Given the description of an element on the screen output the (x, y) to click on. 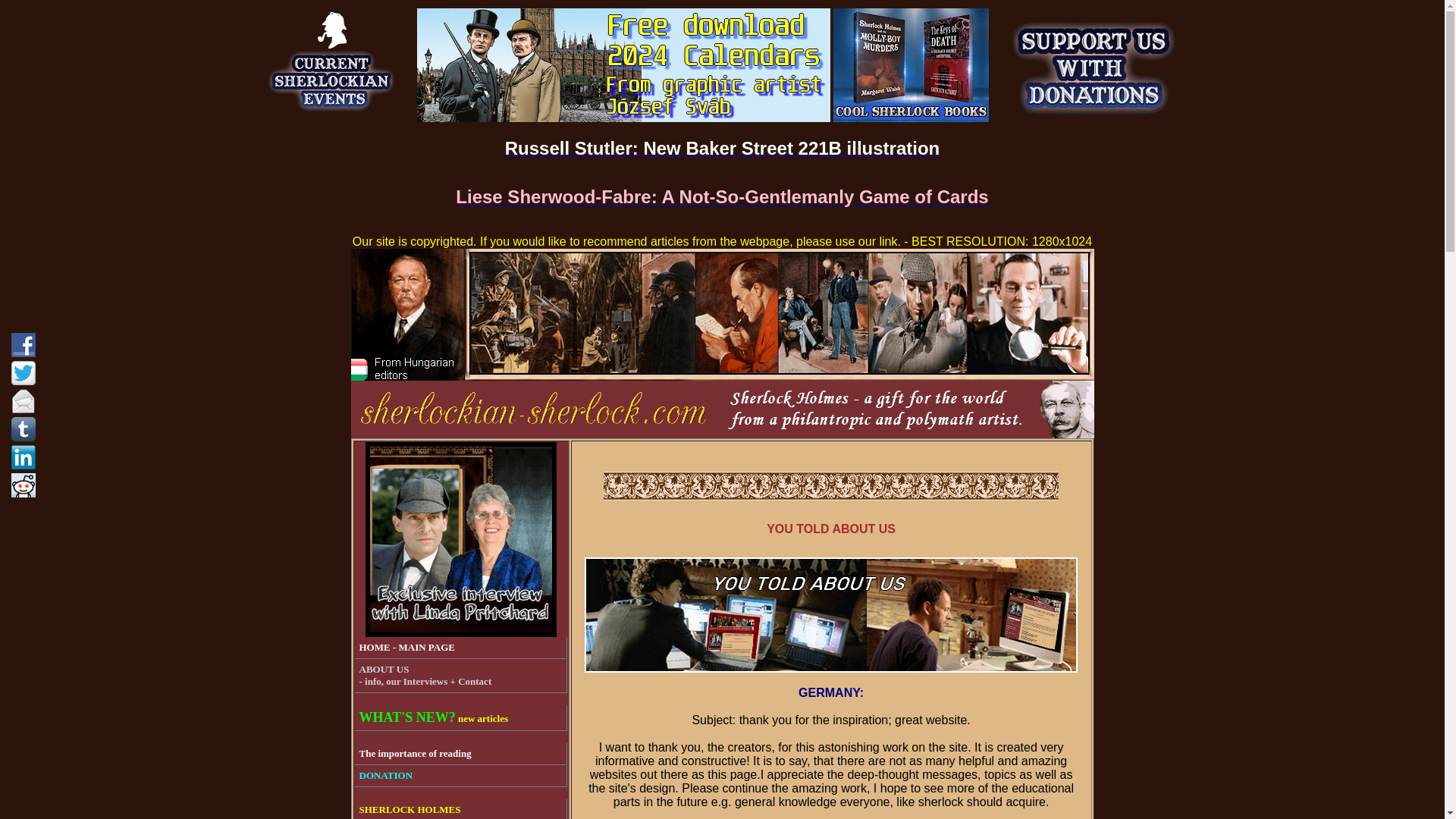
SHERLOCK HOLMES (461, 809)
Donation (1091, 117)
HOME - MAIN PAGE (461, 648)
About us (461, 675)
Current Sherlockian Events (333, 117)
MX Publishing (910, 117)
Russell Stutler: New Baker Street 221B illustration (722, 150)
Liese Sherwood-Fabre: A Not-So-Gentlemanly Game of Cards (721, 198)
The importance of reading (461, 753)
New articles (461, 718)
Main page (461, 648)
Jeremy Brett interview (460, 632)
Donation (461, 775)
A Not-So-Gentlemanly Game of Cards (721, 198)
